Given the description of an element on the screen output the (x, y) to click on. 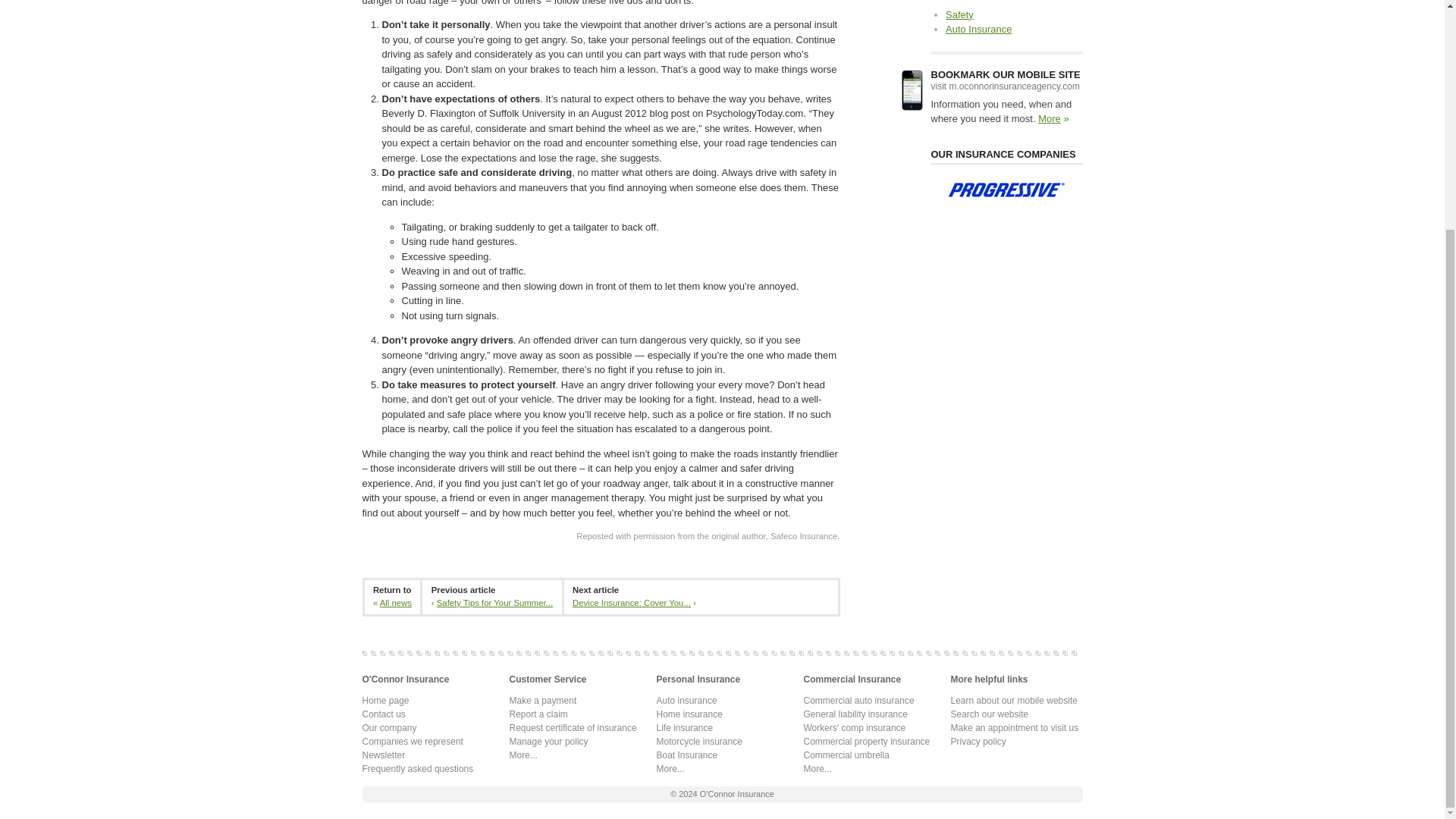
Safety (959, 14)
Auto Insurance (977, 29)
